Given the description of an element on the screen output the (x, y) to click on. 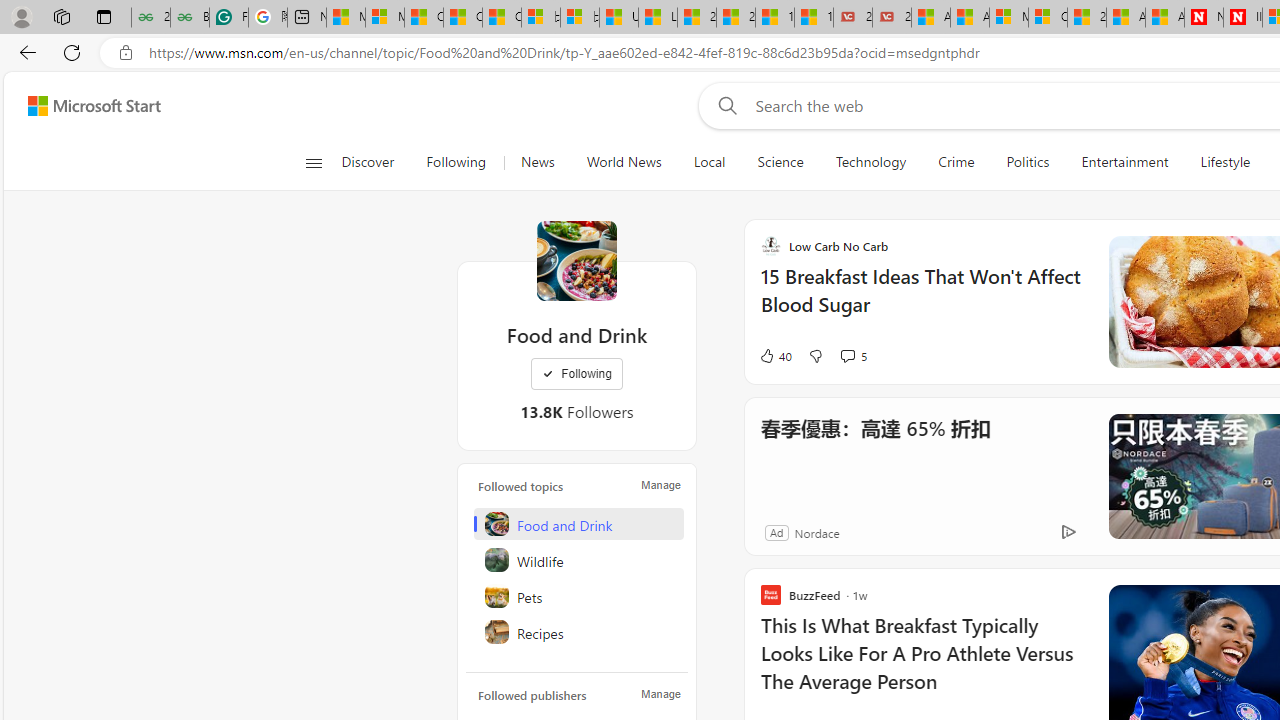
20 Ways to Boost Your Protein Intake at Every Meal (1086, 17)
Wildlife (578, 560)
View comments 5 Comment (847, 355)
Food and Drink (578, 524)
